Given the description of an element on the screen output the (x, y) to click on. 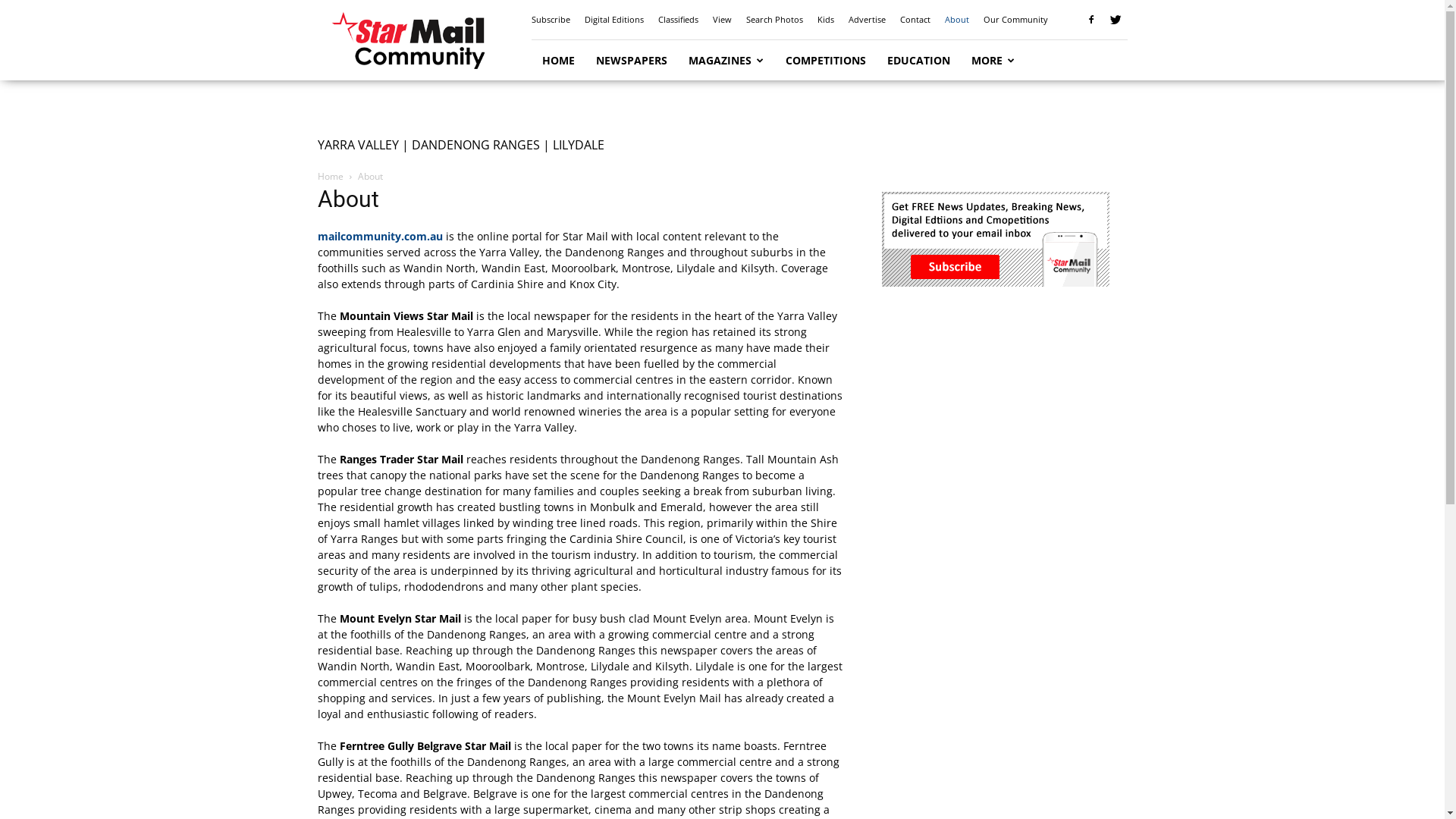
View Element type: text (721, 19)
COMPETITIONS Element type: text (825, 60)
Classifieds Element type: text (678, 19)
About Element type: text (956, 19)
Digital Editions Element type: text (613, 19)
Facebook Element type: hover (1090, 19)
Contact Element type: text (914, 19)
MORE Element type: text (992, 60)
HOME Element type: text (557, 60)
Subscribe Element type: text (549, 19)
Our Community Element type: text (1014, 19)
Twitter Element type: hover (1115, 19)
NEWSPAPERS Element type: text (631, 60)
Search Photos Element type: text (774, 19)
Home Element type: text (329, 175)
MAGAZINES Element type: text (726, 60)
Kids Element type: text (825, 19)
Advertise Element type: text (865, 19)
mailcommunity.com.au Element type: text (379, 236)
EDUCATION Element type: text (918, 60)
